Given the description of an element on the screen output the (x, y) to click on. 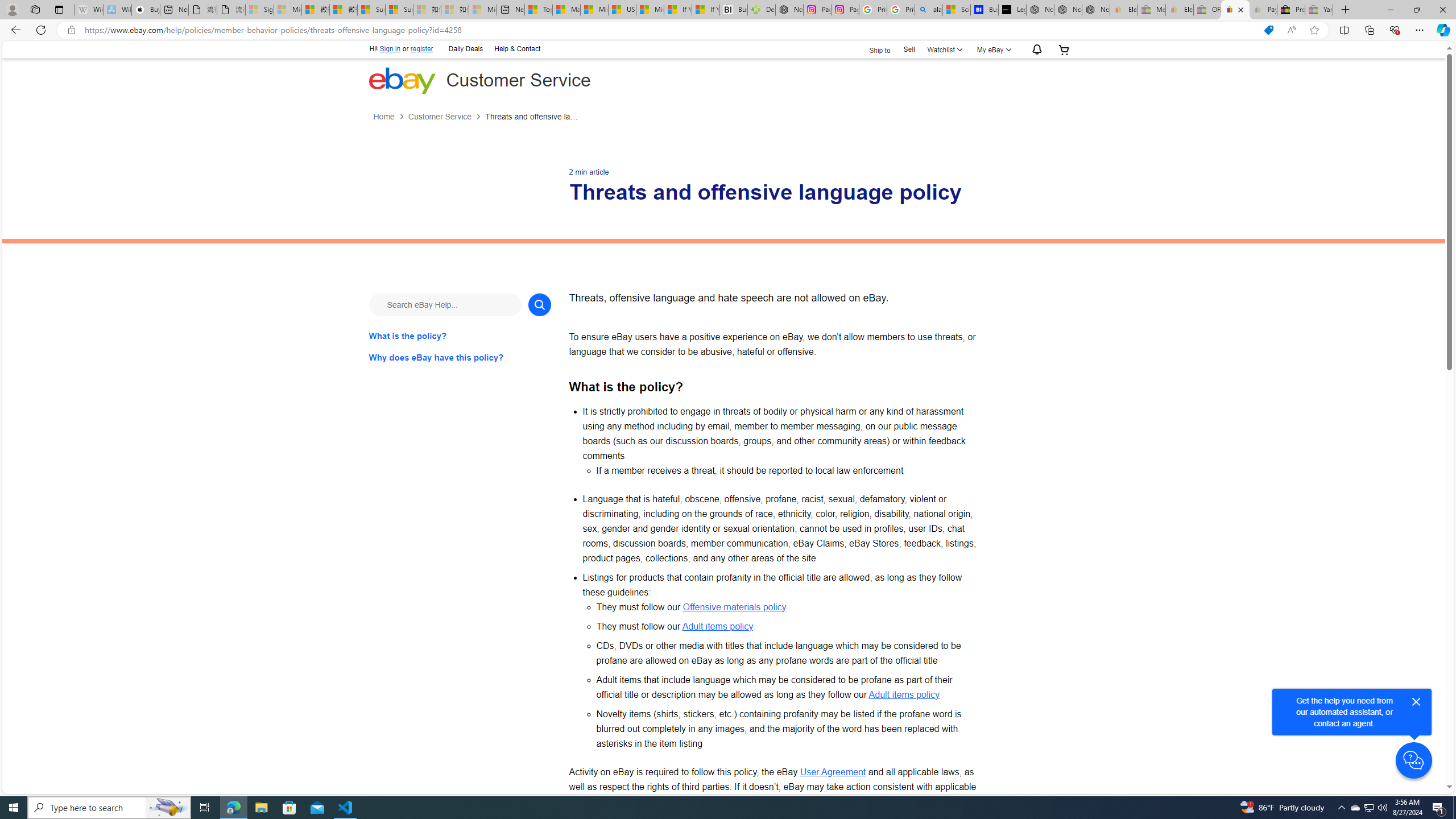
Ship to (872, 50)
Yard, Garden & Outdoor Living - Sleeping (1319, 9)
alabama high school quarterback dies - Search (928, 9)
Buy iPad - Apple (145, 9)
My eBayExpand My eBay (992, 49)
Home (389, 117)
Address and search bar (669, 29)
Your shopping cart (1064, 49)
Help & Contact (516, 49)
Offensive materials policy (734, 606)
Why does eBay have this policy? (459, 356)
